Given the description of an element on the screen output the (x, y) to click on. 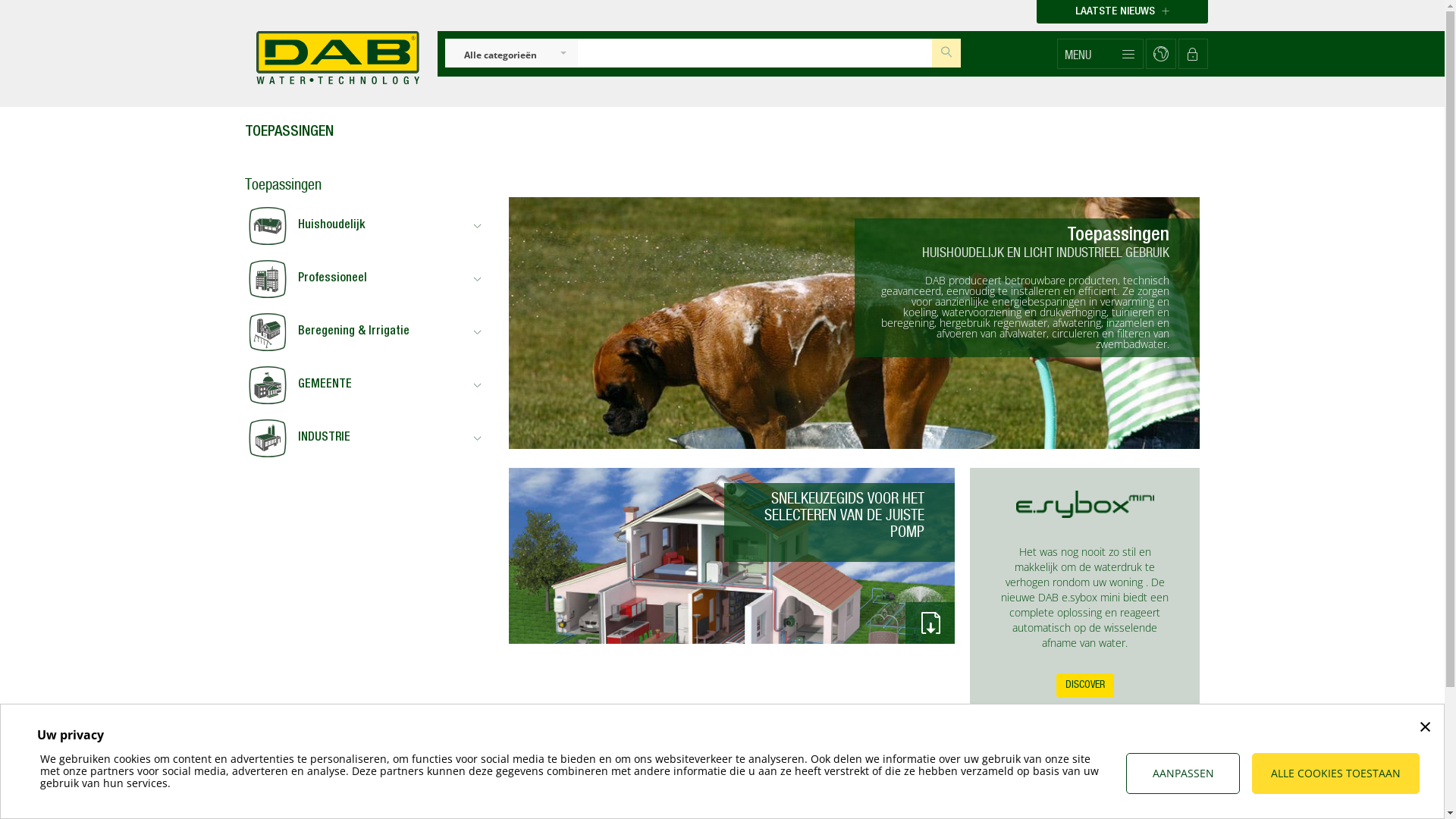
LAATSTE NIEUWS Element type: text (1121, 11)
D.Service Element type: text (275, 806)
Algemene verkoopsvoorwaarden Element type: text (520, 806)
Toepassingen Element type: text (671, 806)
Insert search keys Element type: hover (754, 52)
ALLE COOKIES TOESTAAN Element type: text (1335, 773)
Beregening & Irrigatie Element type: text (365, 331)
Newsroom Element type: text (857, 806)
INDUSTRIE Element type: text (365, 437)
Overslaan en naar de inhoud gaan Element type: text (0, 0)
GEMEENTE Element type: text (365, 384)
AANPASSEN Element type: text (1182, 773)
Professioneel Element type: text (365, 278)
DISCOVER Element type: text (1084, 685)
Huishoudelijk Element type: text (365, 225)
MENU Element type: text (1099, 53)
